Given the description of an element on the screen output the (x, y) to click on. 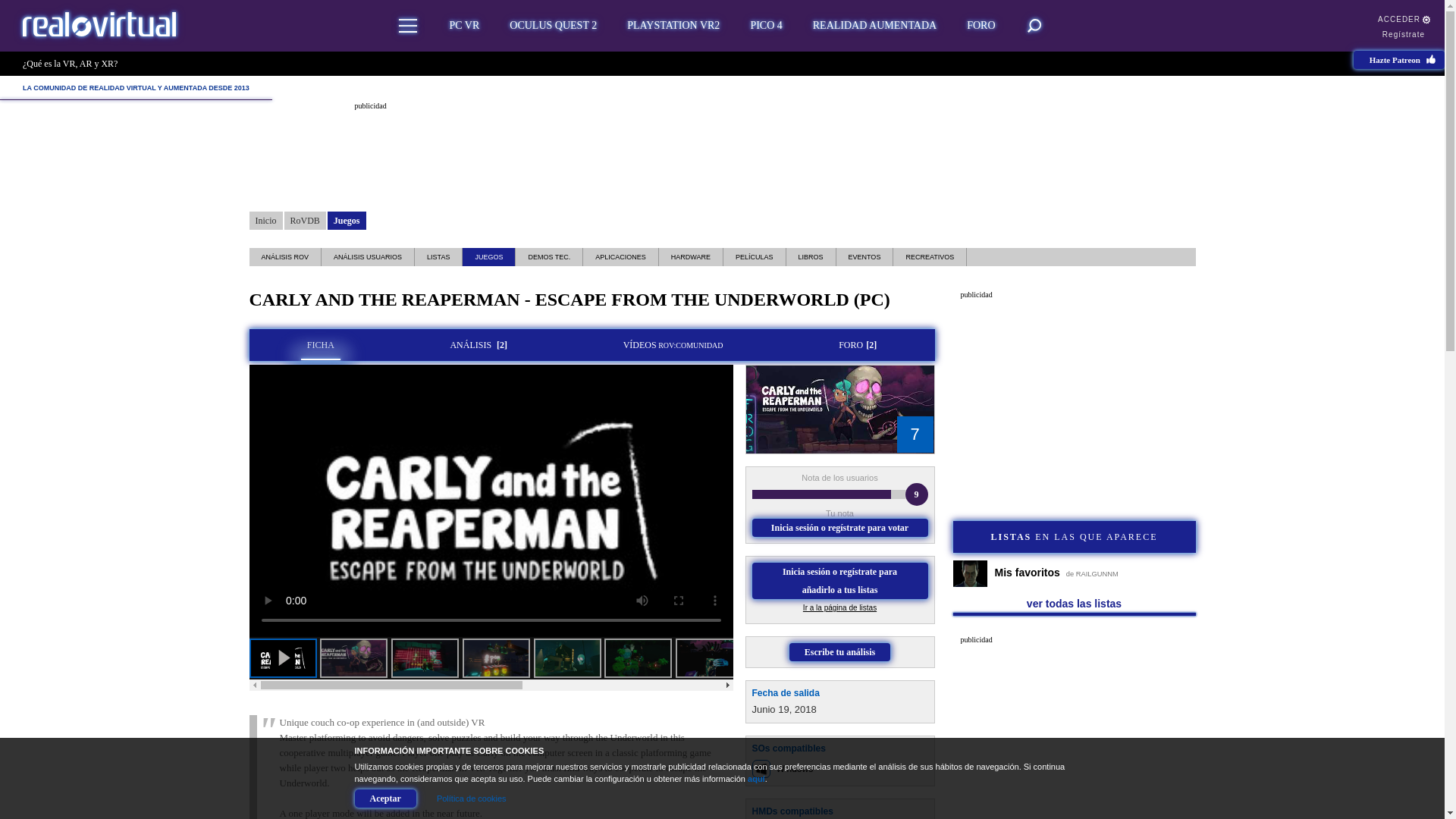
Advertisement (1073, 732)
Mis favoritos (1073, 573)
PICO 4 (765, 25)
REALIDAD AUMENTADA (874, 25)
Advertisement (722, 146)
Inicio (265, 220)
LIBROS (810, 257)
FORO (981, 25)
HARDWARE (690, 257)
RECREATIVOS (929, 257)
